Given the description of an element on the screen output the (x, y) to click on. 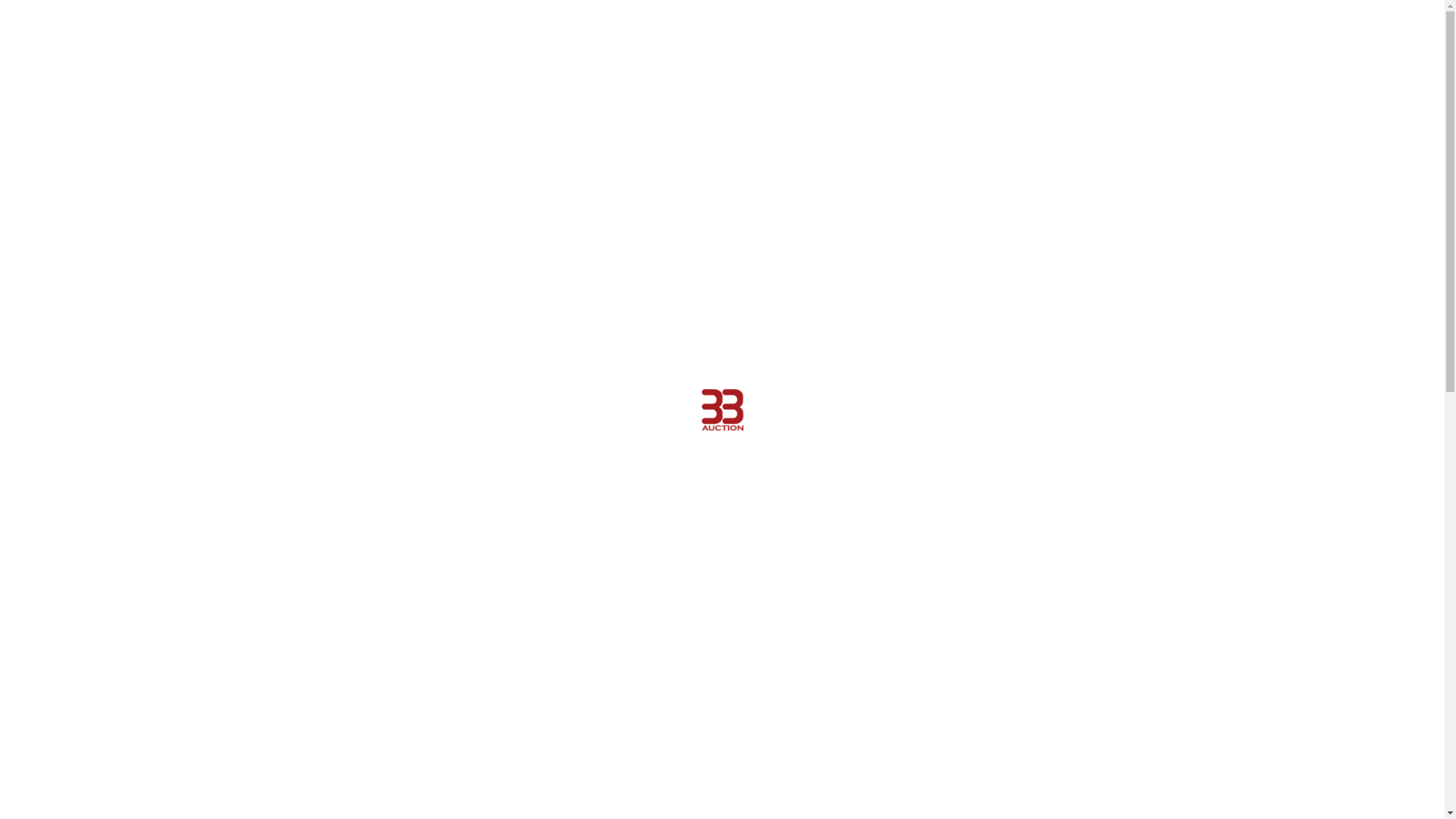
How To Buy Element type: text (83, 698)
About Us Element type: text (59, 406)
Exhibition Element type: text (59, 258)
Buy & Sell Element type: text (60, 676)
Auctions Element type: text (58, 613)
Indonesian Artists Element type: text (101, 364)
Petunjuk Membeli di Lelang Online Element type: text (145, 237)
Upcoming Element type: text (80, 635)
Past Events Element type: text (84, 656)
Chinese Art Element type: text (101, 512)
How To Buy Element type: text (83, 195)
Southeast Asia Element type: text (111, 490)
How To Sell Element type: text (83, 719)
Singapore Art Element type: text (106, 449)
Auctions Element type: text (58, 111)
Chinese Artists Element type: text (94, 385)
Exhibition Element type: text (59, 761)
Department Element type: text (86, 428)
Past Events Element type: text (84, 153)
Contemporary Art Element type: text (103, 343)
Private Sale Element type: text (67, 804)
Upcoming Element type: text (80, 132)
Private Sale Element type: text (67, 301)
Singapore Artists Element type: text (99, 321)
Contact Us Element type: text (83, 533)
Goh Beng Kwan Collection Element type: text (125, 782)
Indonesia Art Element type: text (105, 469)
Petunjuk Membeli di Lelang Online Element type: text (145, 740)
How To Sell Element type: text (83, 216)
Buy & Sell Element type: text (60, 174)
Goh Beng Kwan Collection Element type: text (125, 280)
